Given the description of an element on the screen output the (x, y) to click on. 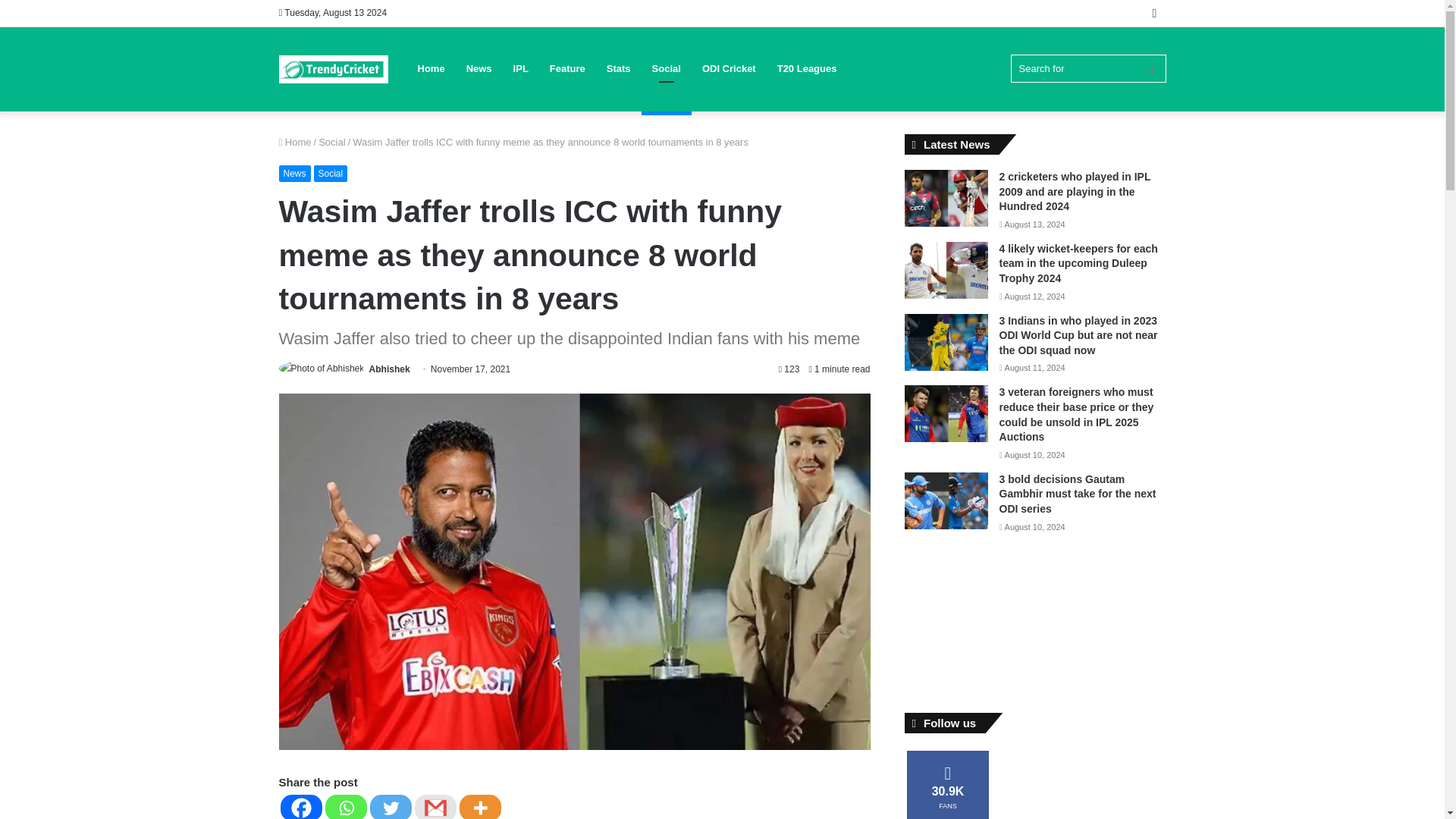
Abhishek (389, 368)
Facebook (301, 806)
Search for (1088, 68)
Twitter (390, 806)
Abhishek (389, 368)
News (295, 173)
More (480, 806)
T20 Leagues (807, 68)
Whatsapp (345, 806)
Social (330, 173)
